Given the description of an element on the screen output the (x, y) to click on. 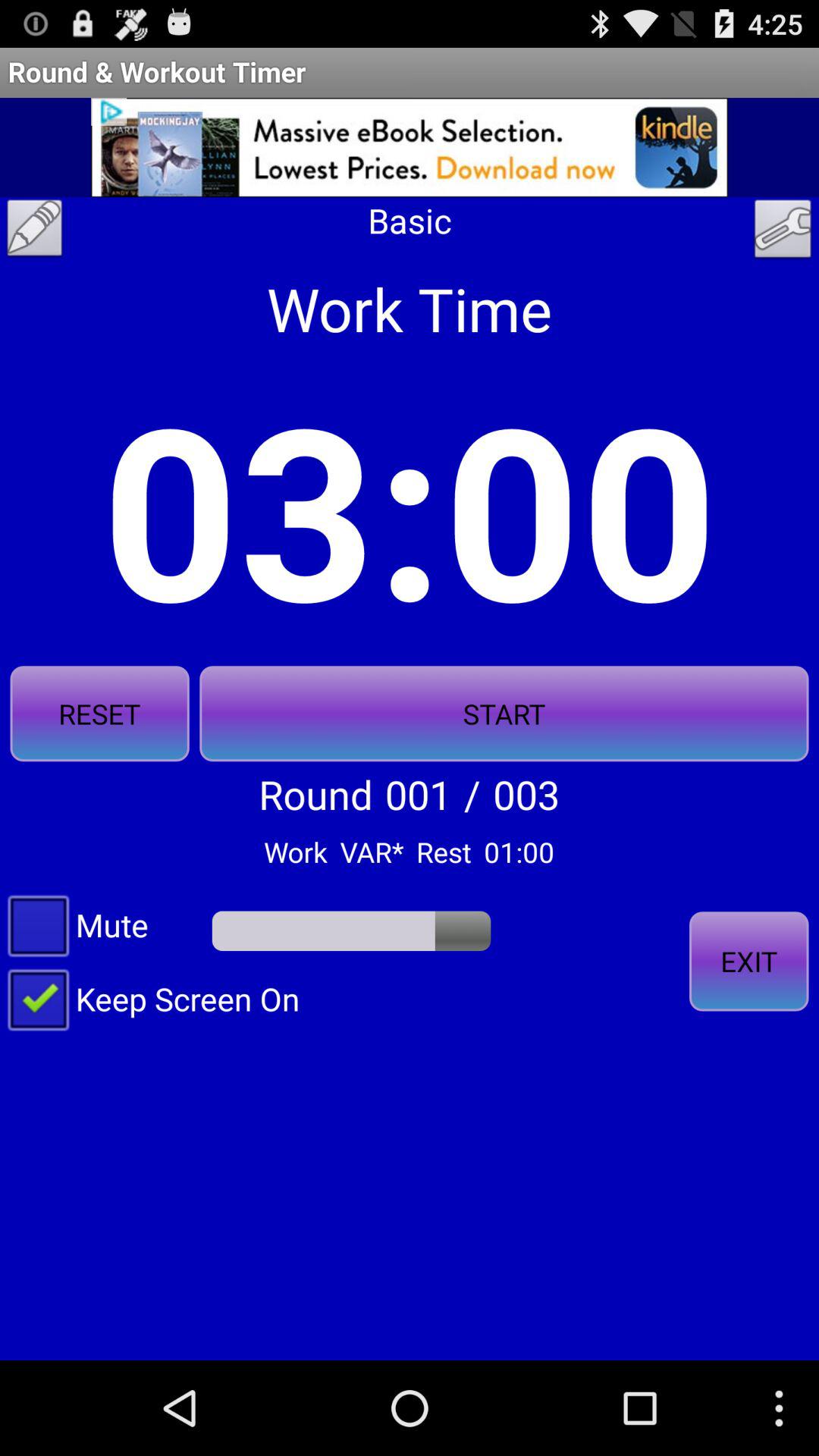
tap icon below the start item (748, 961)
